Given the description of an element on the screen output the (x, y) to click on. 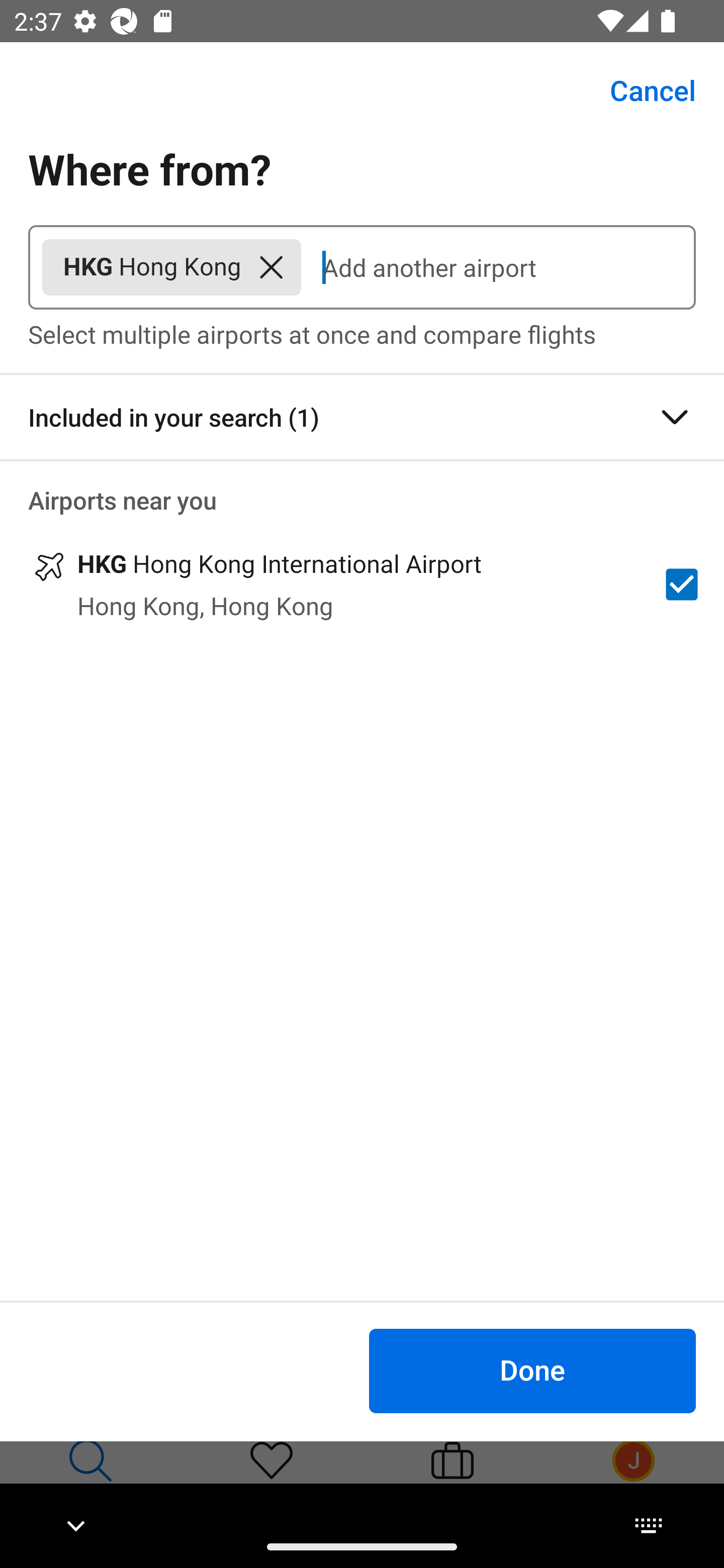
Cancel (641, 90)
Add another airport (498, 266)
HKG Hong Kong Remove HKG Hong Kong (171, 266)
Included in your search (1) (362, 416)
Done (532, 1370)
